Given the description of an element on the screen output the (x, y) to click on. 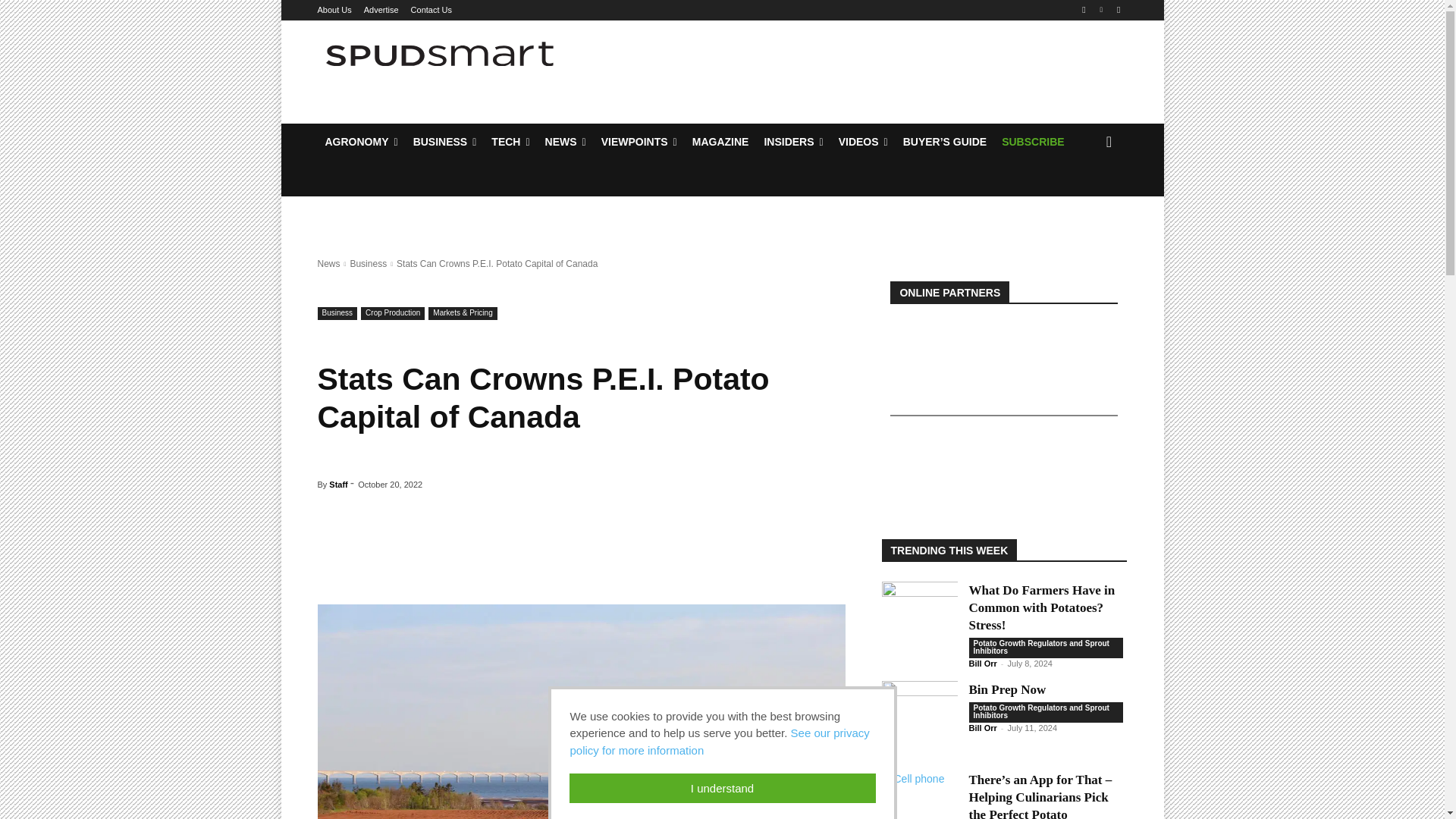
Twitter (1117, 9)
Facebook (1084, 9)
Spud Smart (439, 53)
Linkedin (1101, 9)
